Given the description of an element on the screen output the (x, y) to click on. 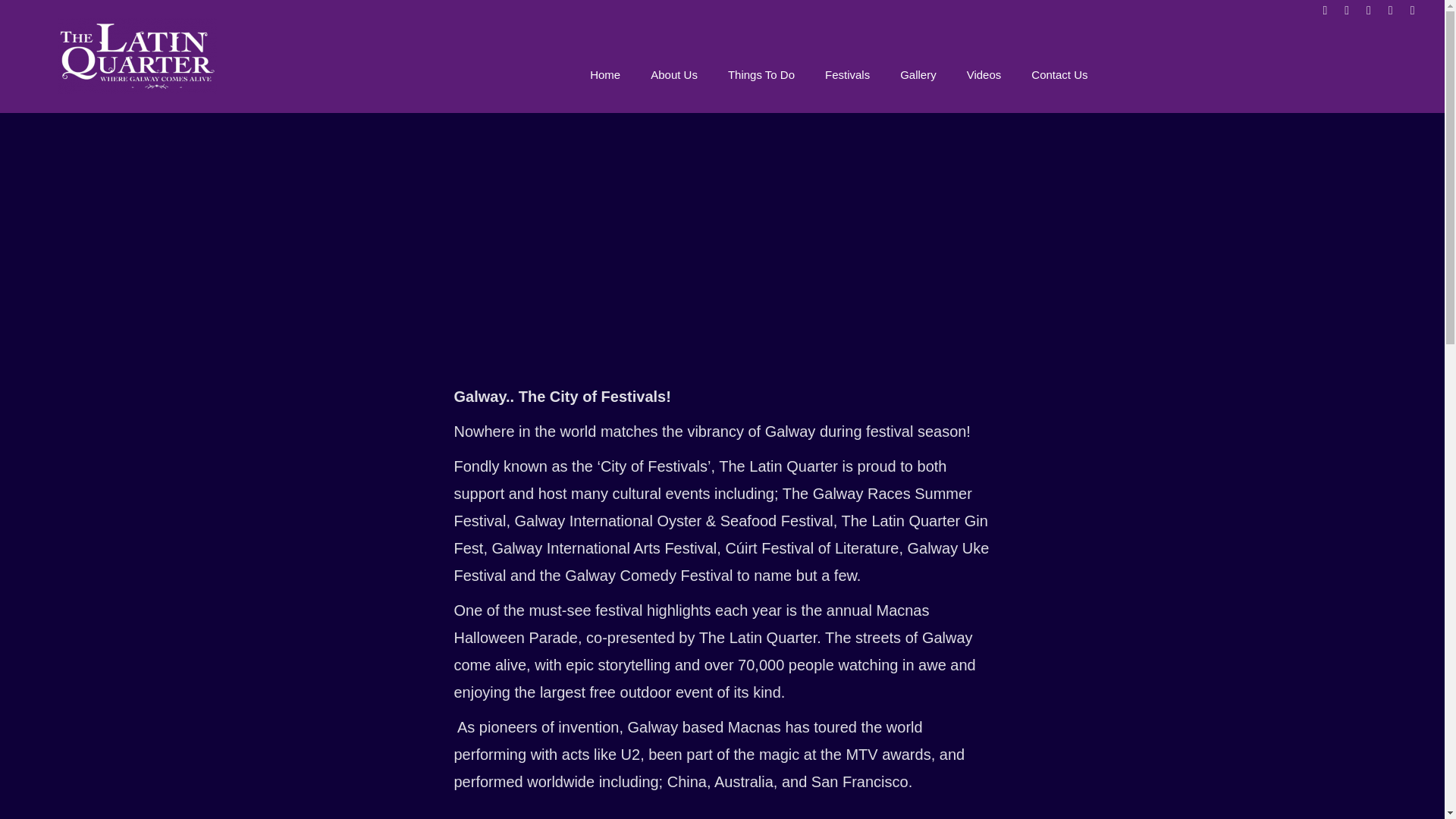
The-Latin-Quarter-Galway (137, 56)
About Us (673, 74)
